Given the description of an element on the screen output the (x, y) to click on. 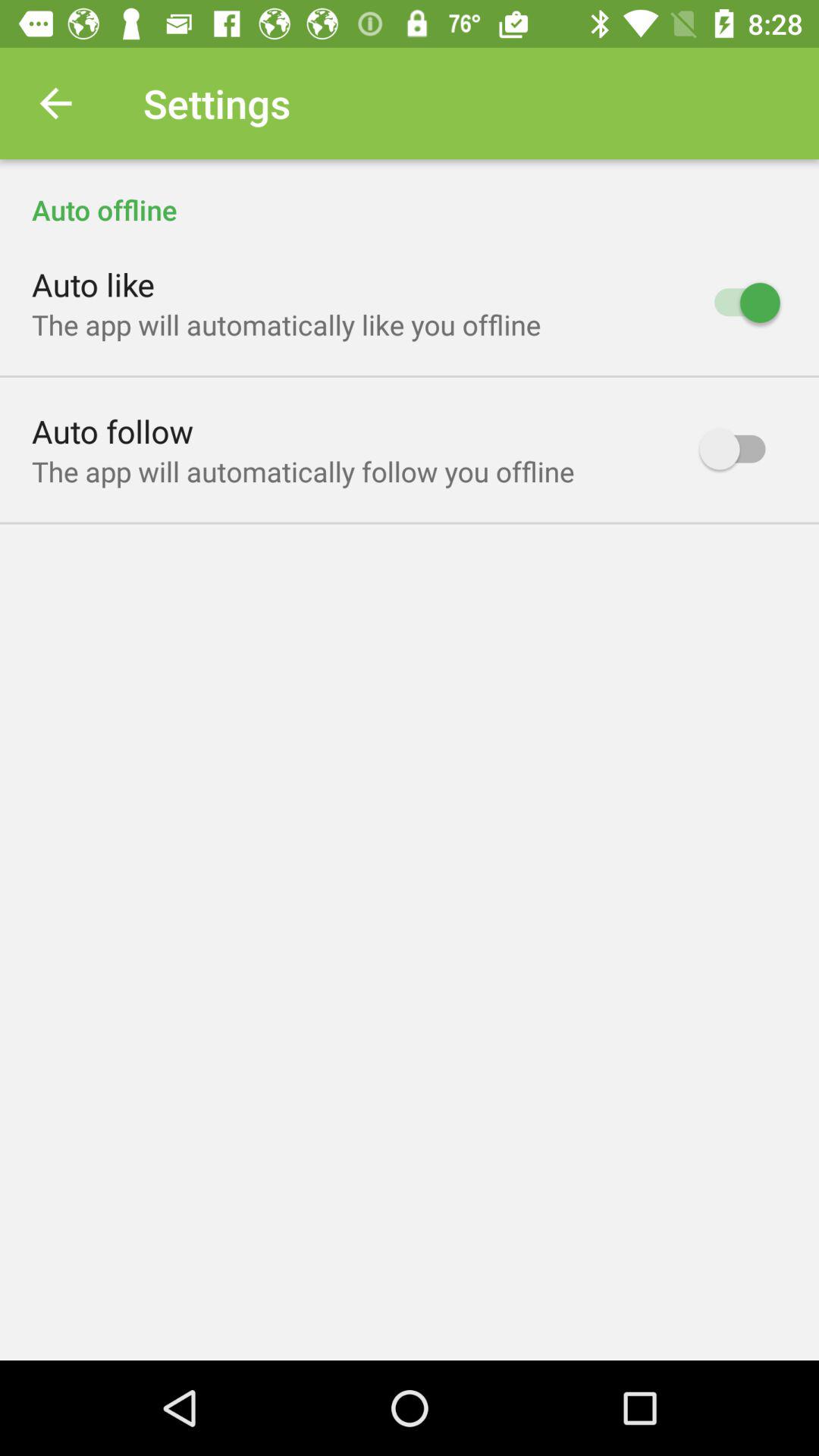
jump until the auto follow icon (112, 430)
